Given the description of an element on the screen output the (x, y) to click on. 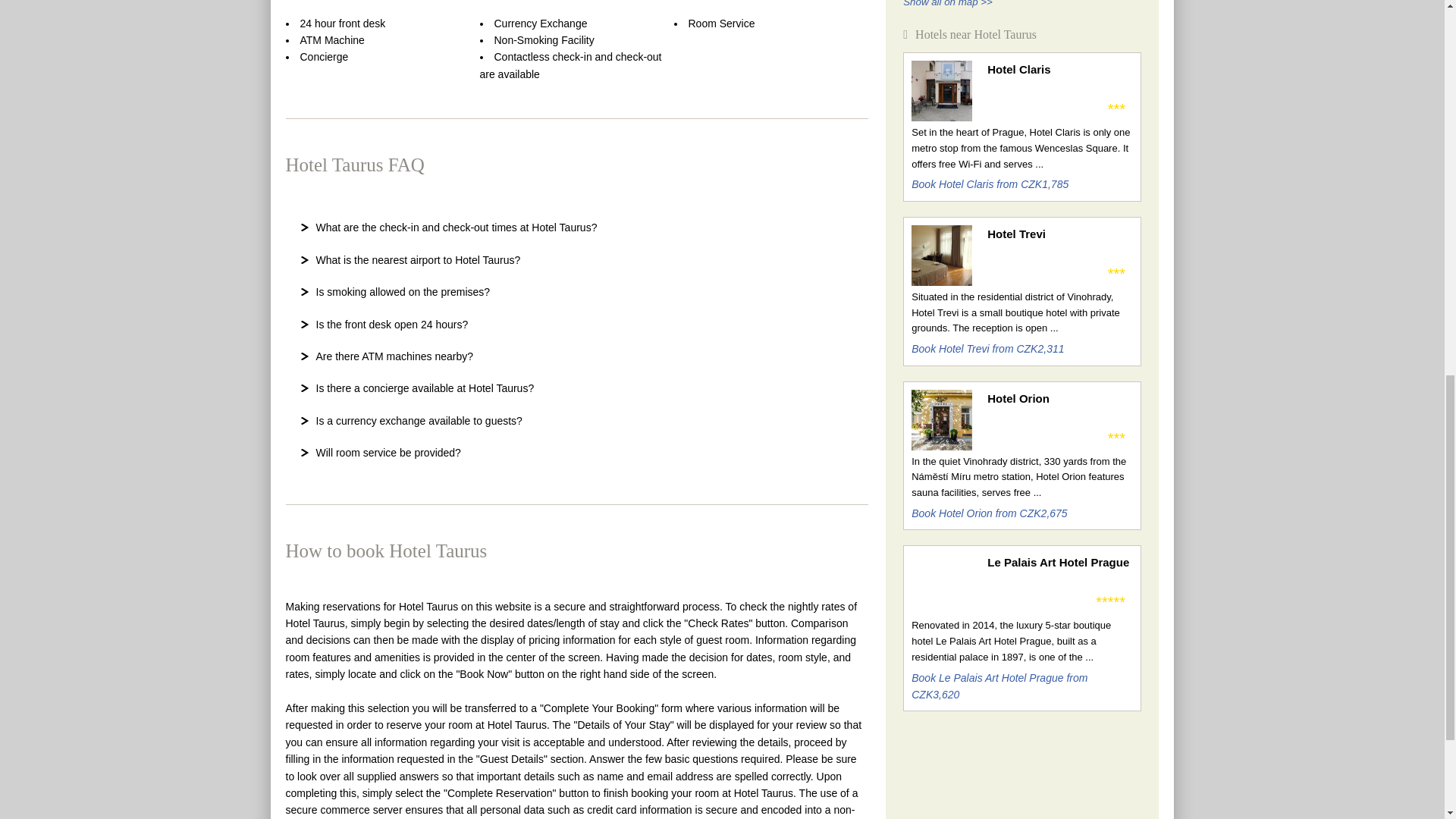
Book Hotel Trevi from CZK2,311 (987, 348)
Book Le Palais Art Hotel Prague from CZK3,620 (999, 686)
Hotel Claris (1059, 69)
Hotel Orion (1059, 398)
Hotel Trevi (1059, 234)
Book Hotel Orion from CZK2,675 (989, 512)
Book Hotel Claris from CZK1,785 (989, 184)
Le Palais Art Hotel Prague (1059, 562)
